Given the description of an element on the screen output the (x, y) to click on. 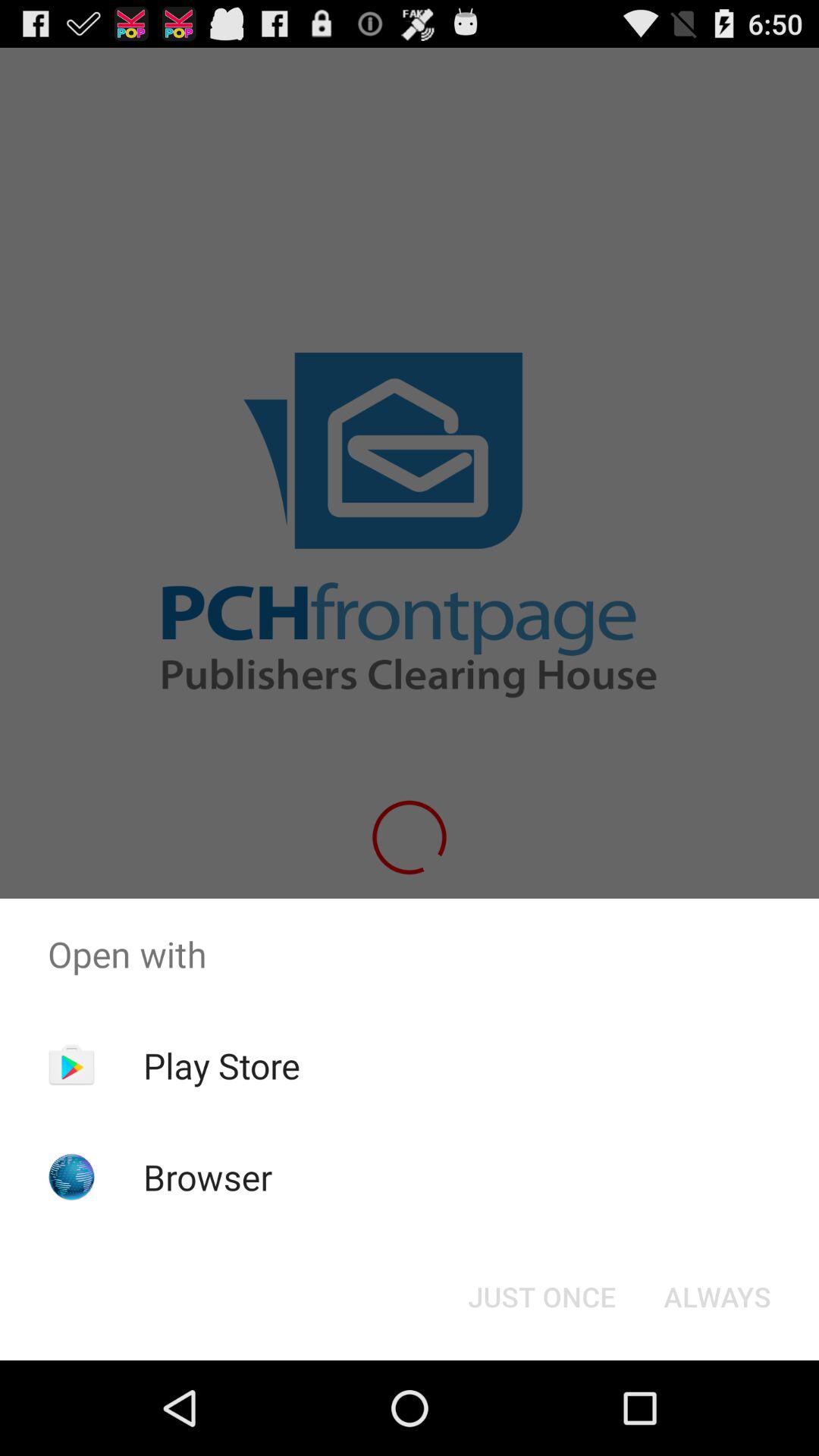
choose the item below the play store app (207, 1176)
